Given the description of an element on the screen output the (x, y) to click on. 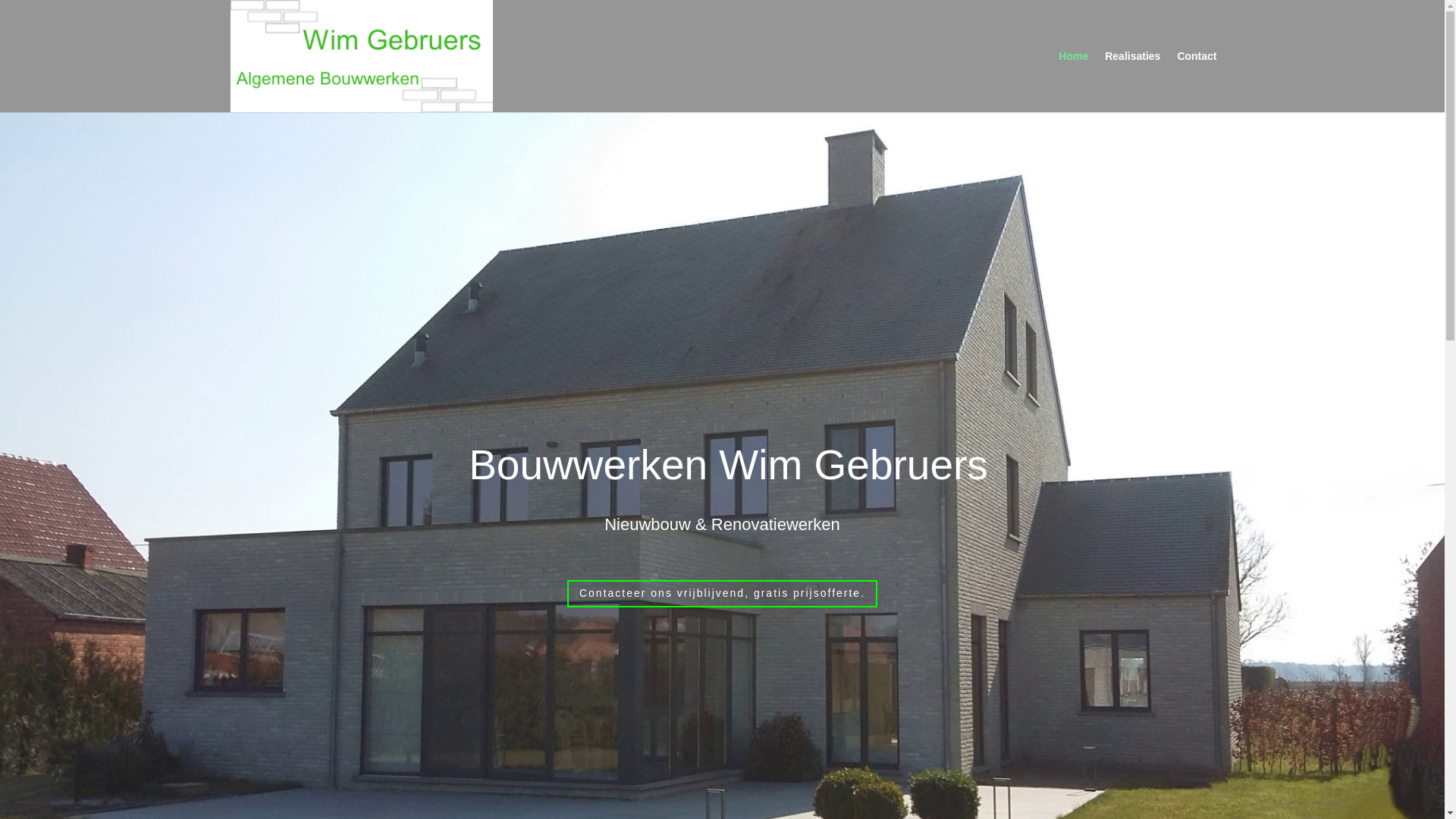
Realisaties Element type: text (1132, 81)
Contacteer ons vrijblijvend, gratis prijsofferte. Element type: text (722, 593)
Contact Element type: text (1196, 81)
Home Element type: text (1073, 81)
